Given the description of an element on the screen output the (x, y) to click on. 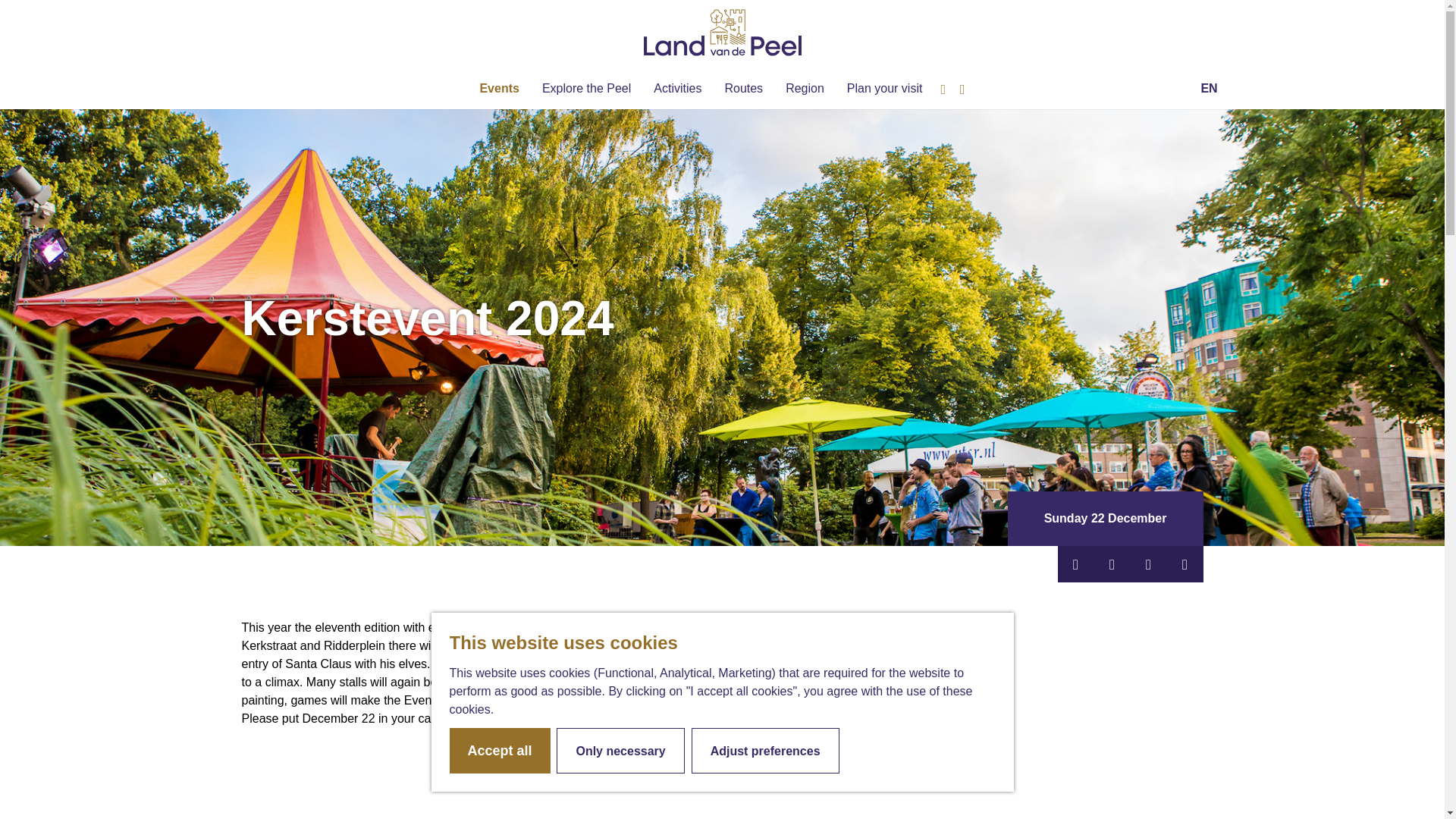
Explore the Peel (586, 88)
Adjust preferences (765, 750)
Accept all (499, 750)
Region (804, 88)
Only necessary (620, 750)
Routes (742, 88)
Events (498, 88)
Plan your visit (884, 88)
Go to the homepage (722, 31)
Activities (677, 88)
